Given the description of an element on the screen output the (x, y) to click on. 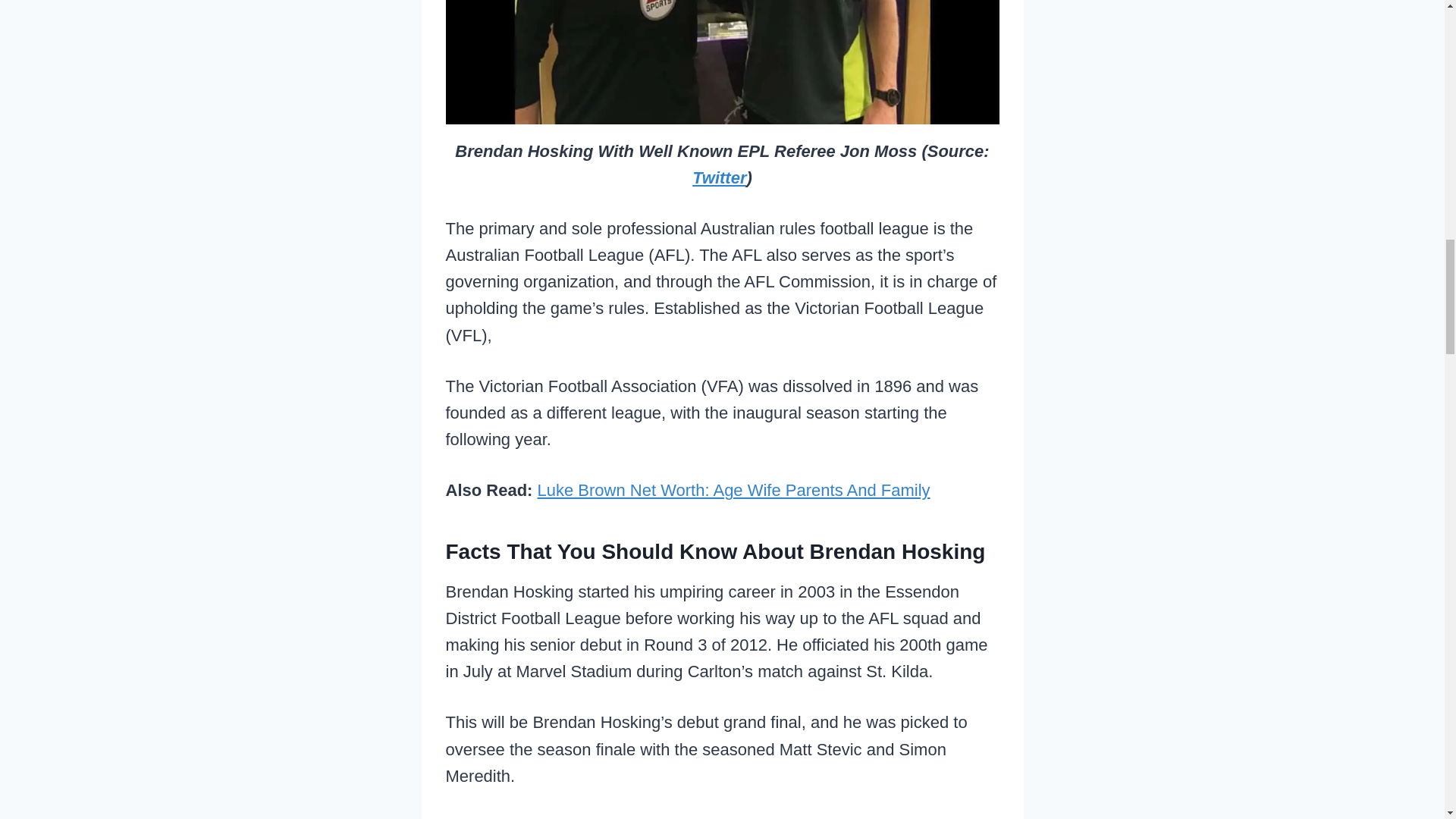
Twitter (719, 177)
Luke Brown Net Worth: Age Wife Parents And Family (733, 489)
